Given the description of an element on the screen output the (x, y) to click on. 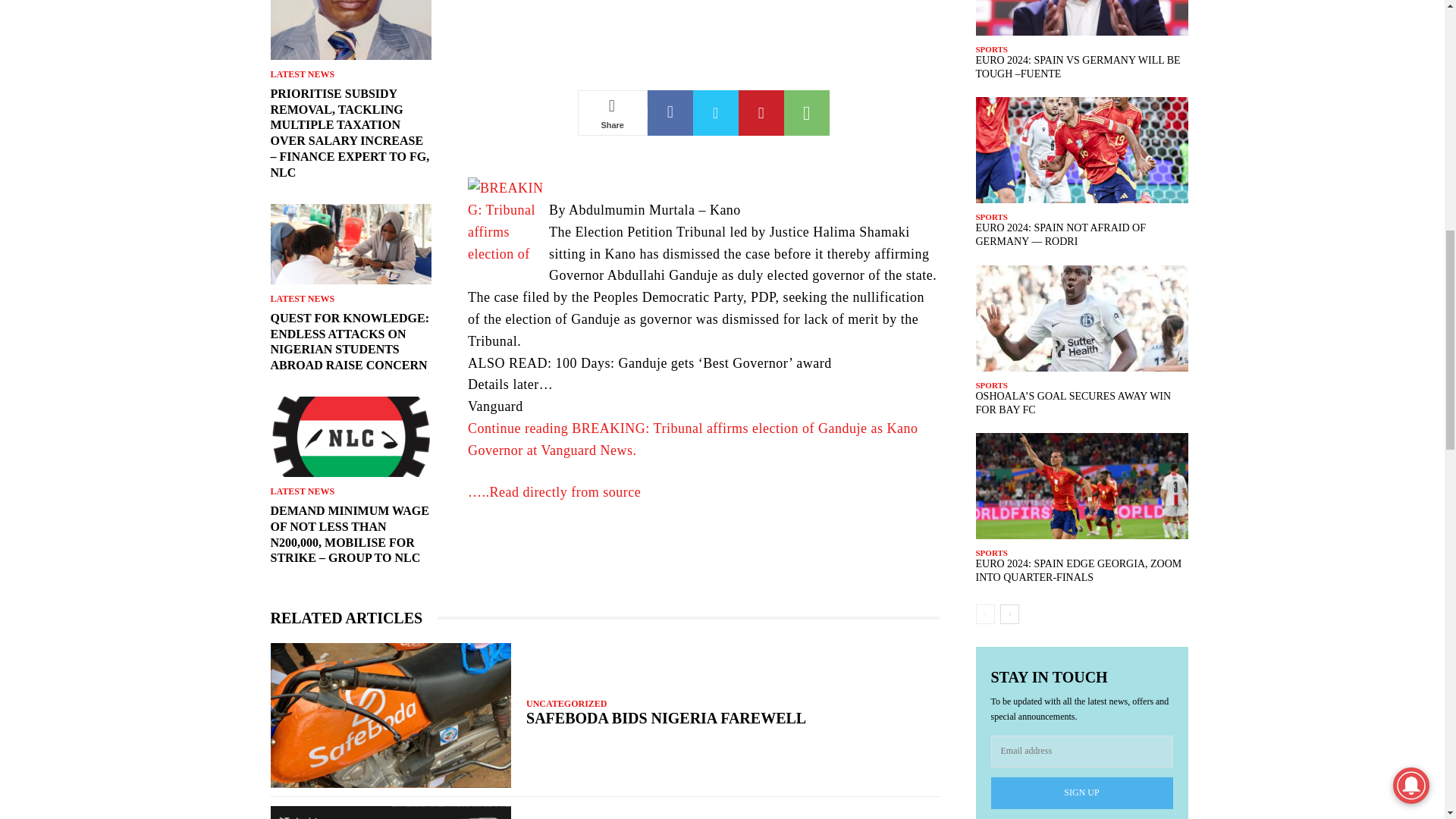
LATEST NEWS (301, 73)
